Given the description of an element on the screen output the (x, y) to click on. 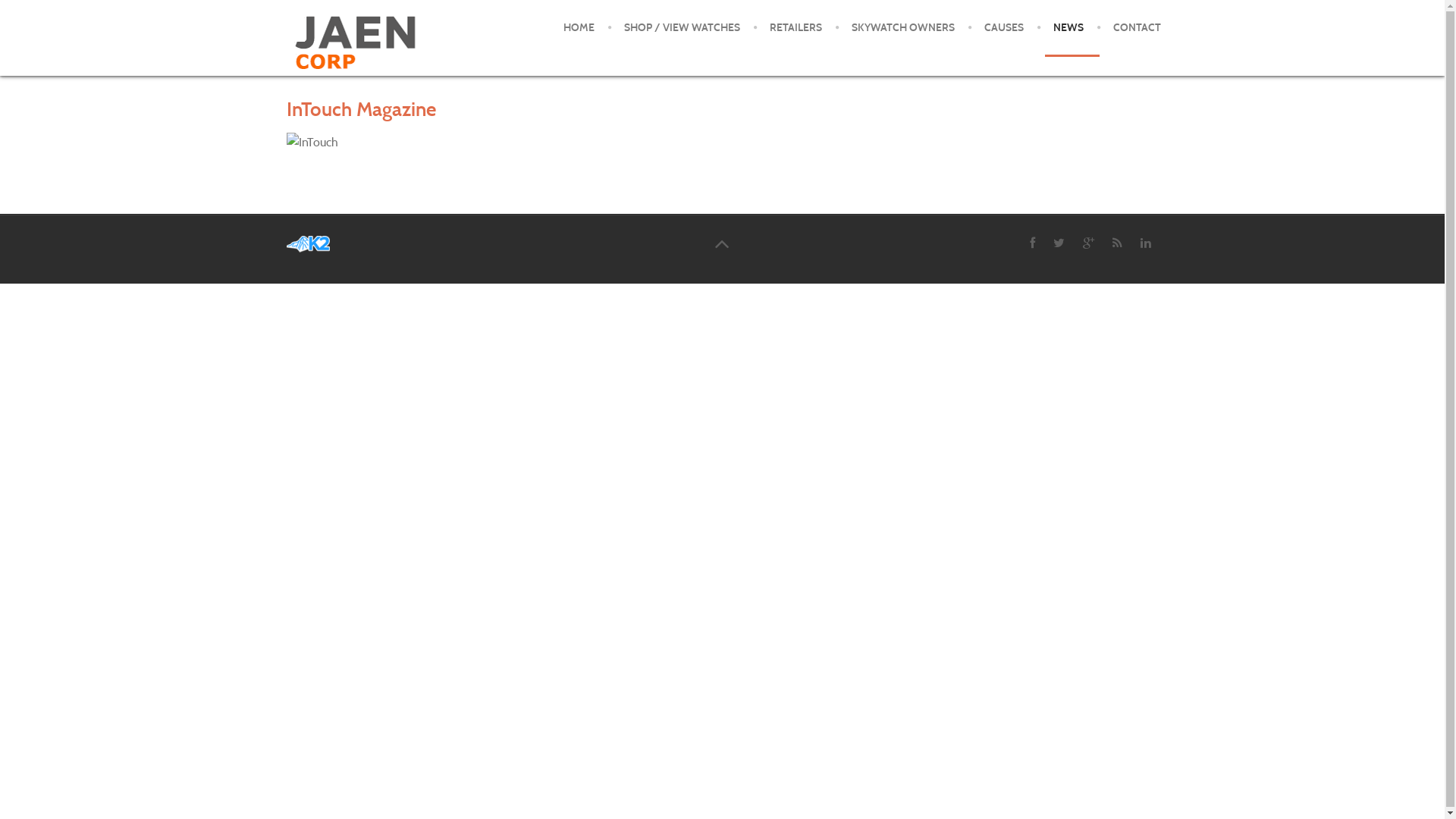
HOME Element type: text (577, 27)
CONTACT Element type: text (1137, 27)
InTouch Magazine Element type: text (361, 109)
CAUSES Element type: text (1003, 27)
RETAILERS Element type: text (794, 27)
NEWS Element type: text (1067, 27)
SKYWATCH OWNERS Element type: text (902, 27)
SHOP / VIEW WATCHES Element type: text (681, 27)
